Given the description of an element on the screen output the (x, y) to click on. 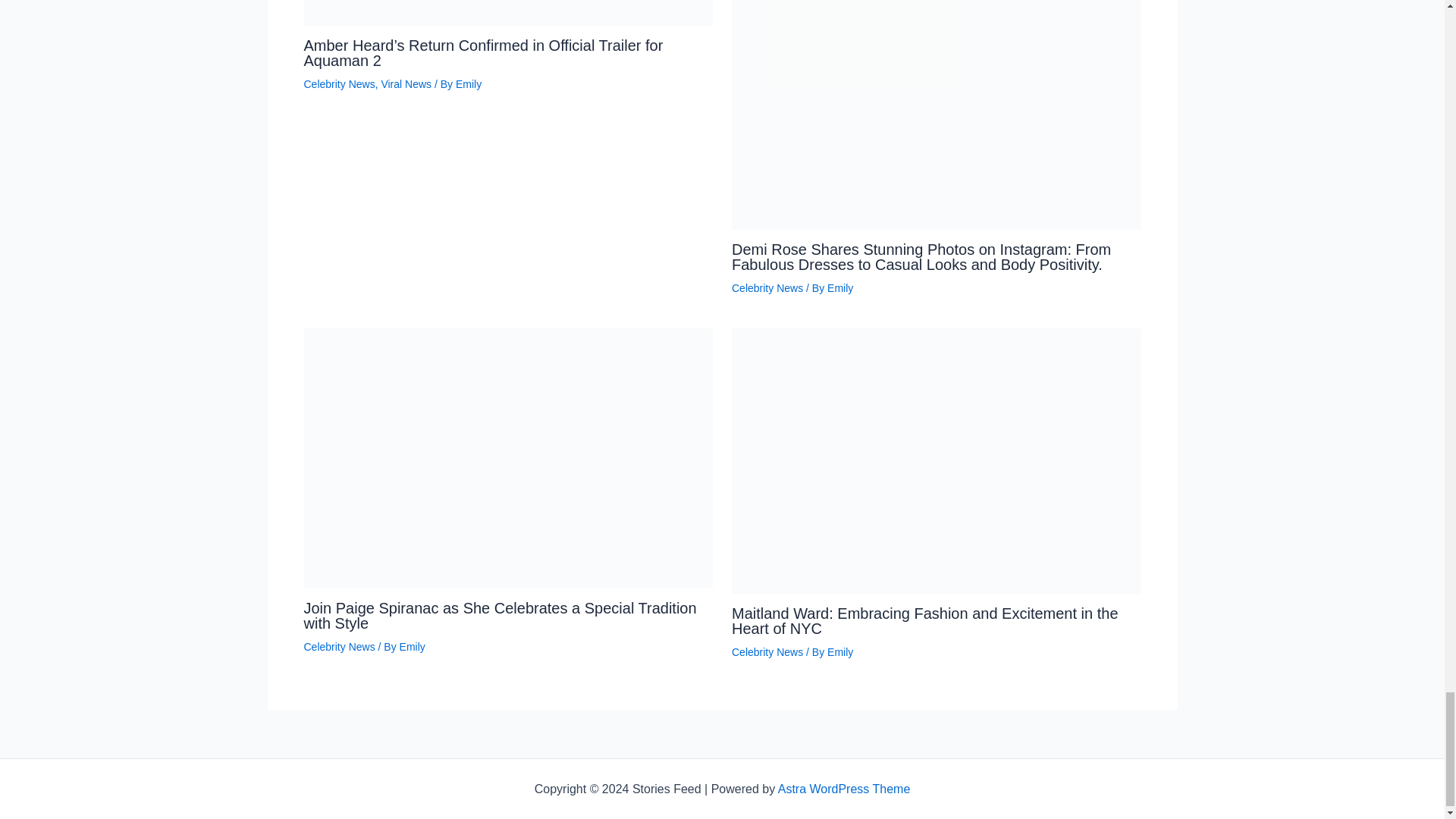
Celebrity News (767, 287)
Viral News (405, 83)
Emily (840, 652)
View all posts by Emily (468, 83)
Emily (840, 287)
Emily (411, 646)
View all posts by Emily (411, 646)
Astra WordPress Theme (844, 788)
Celebrity News (338, 646)
Celebrity News (767, 652)
Emily (468, 83)
View all posts by Emily (840, 287)
